Given the description of an element on the screen output the (x, y) to click on. 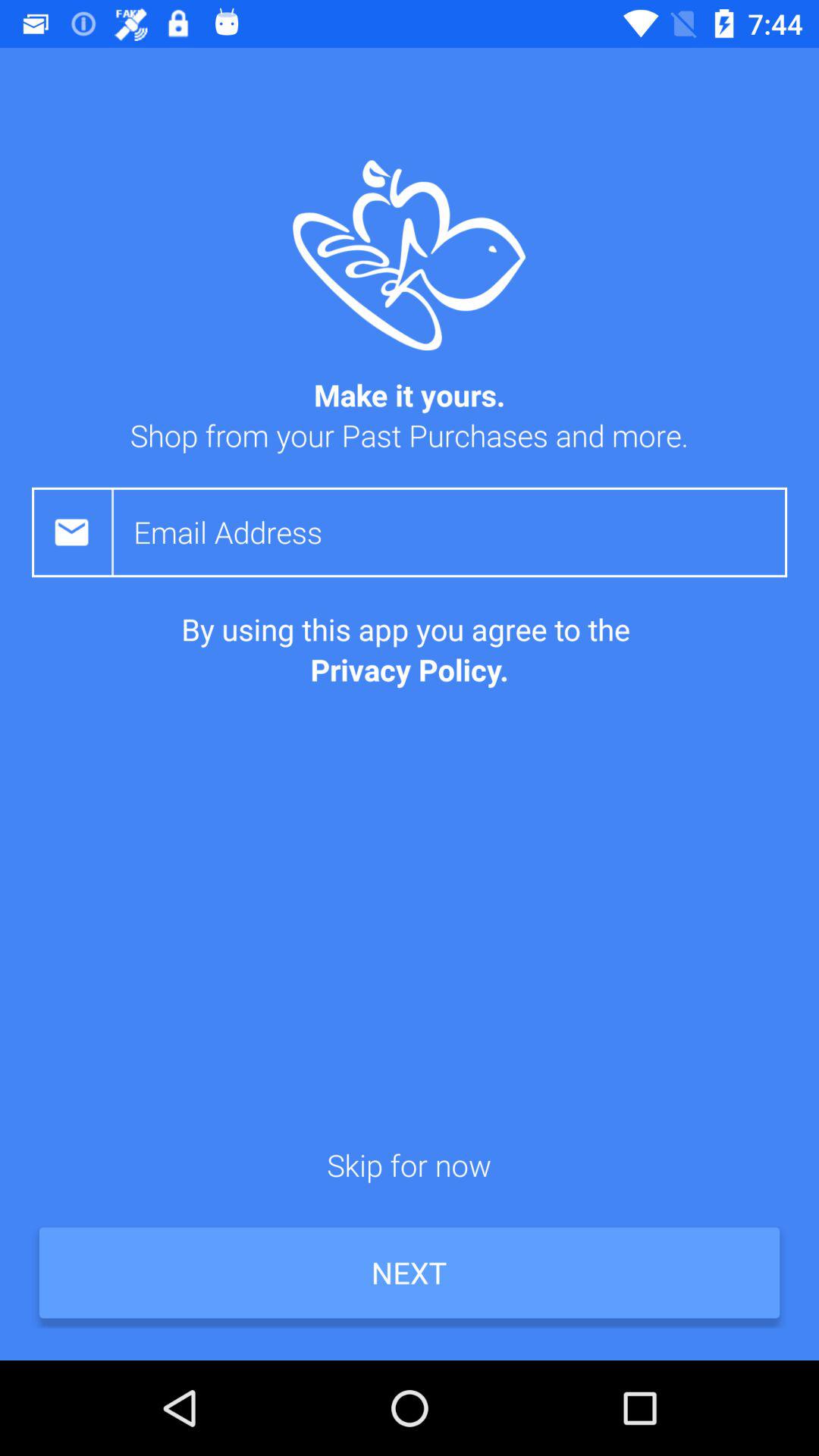
enter email (460, 531)
